Given the description of an element on the screen output the (x, y) to click on. 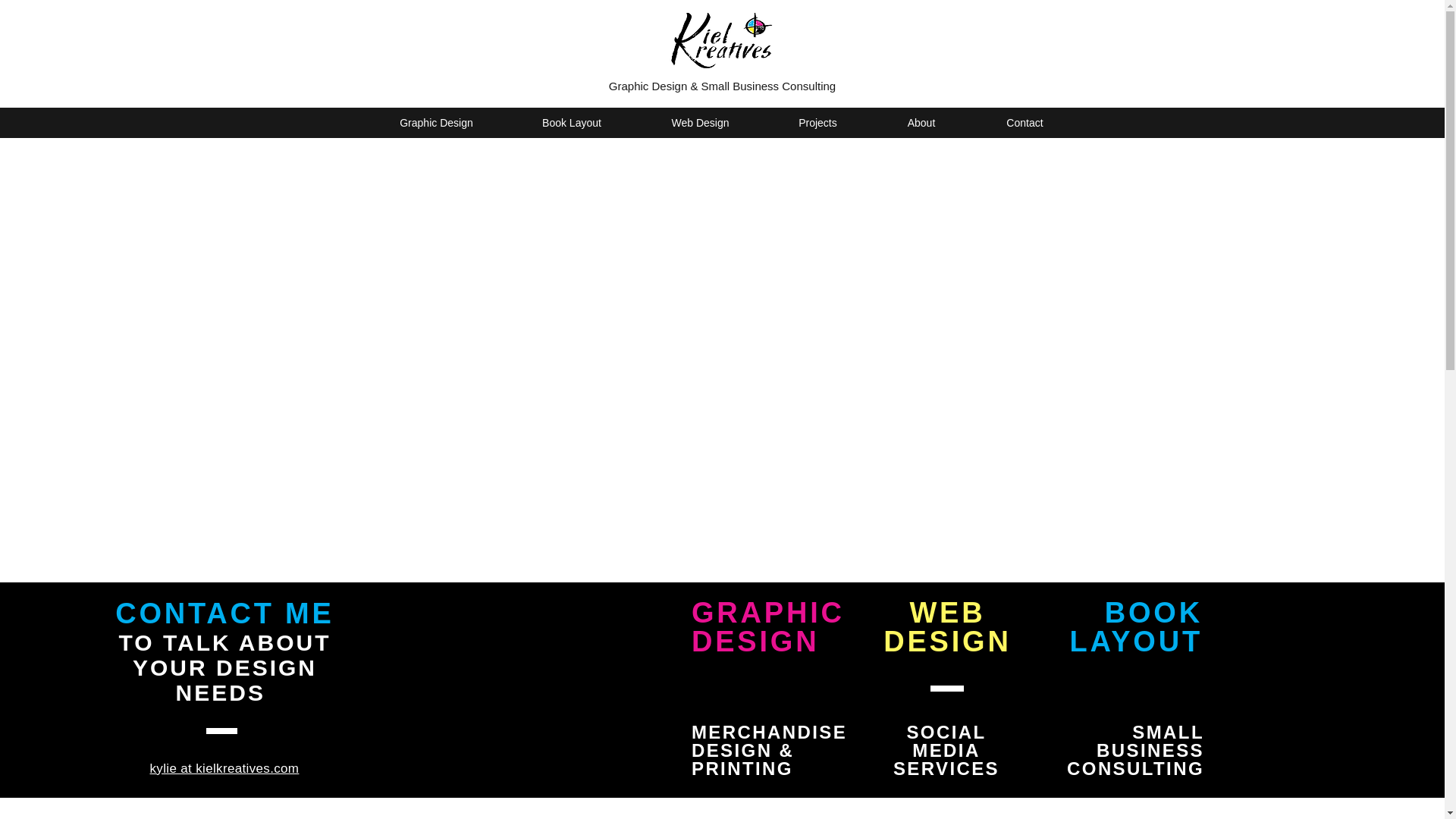
Contact (1024, 122)
kylie at kielkreatives.com (224, 768)
Web Design (699, 122)
About (920, 122)
Projects (816, 122)
Book Layout (571, 122)
